Given the description of an element on the screen output the (x, y) to click on. 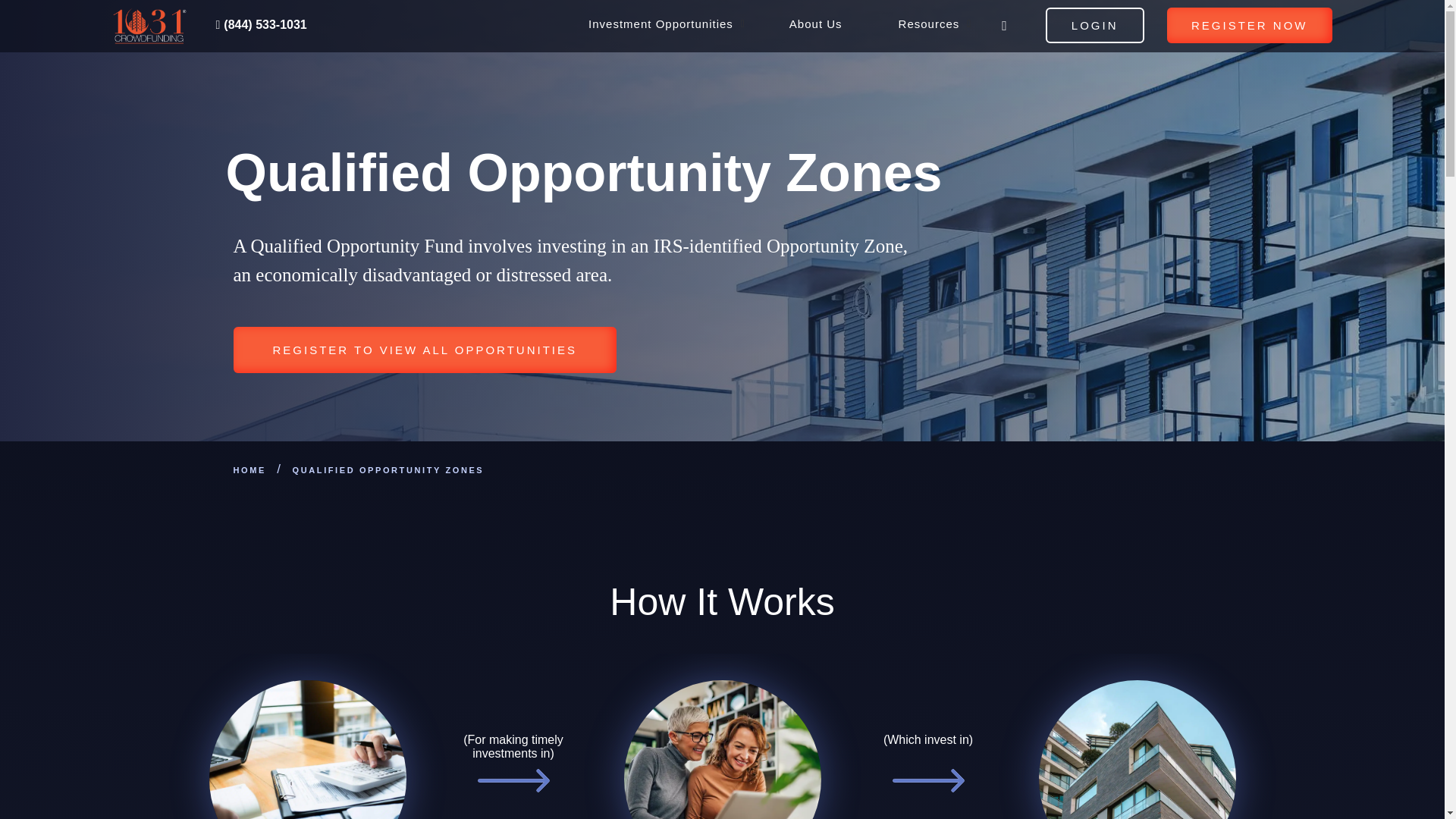
Resources (929, 28)
REGISTER NOW (703, 28)
About Us (1249, 25)
LOGIN (815, 28)
